Given the description of an element on the screen output the (x, y) to click on. 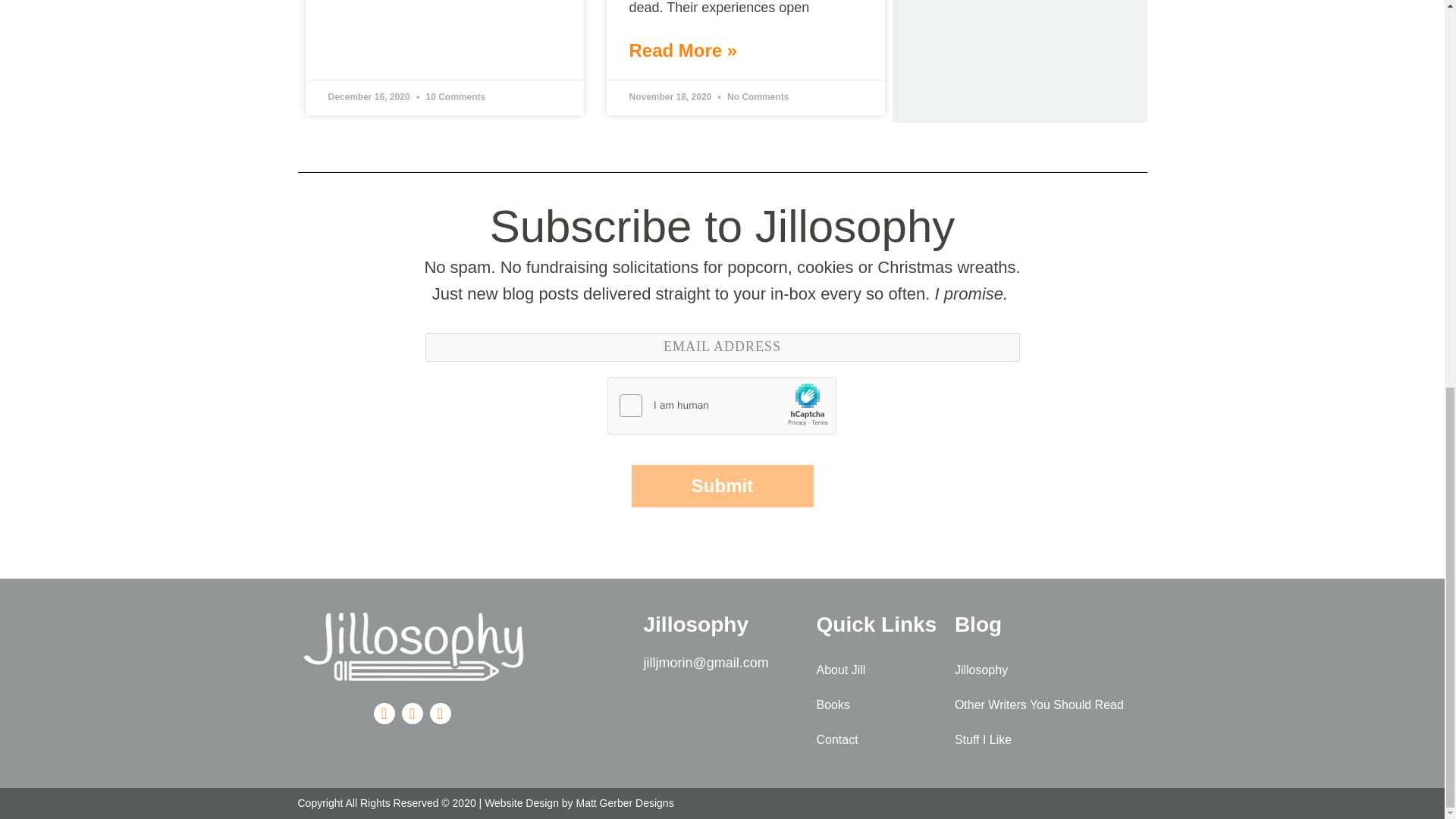
Widget containing checkbox for hCaptcha security challenge (722, 405)
Submit (721, 485)
